Given the description of an element on the screen output the (x, y) to click on. 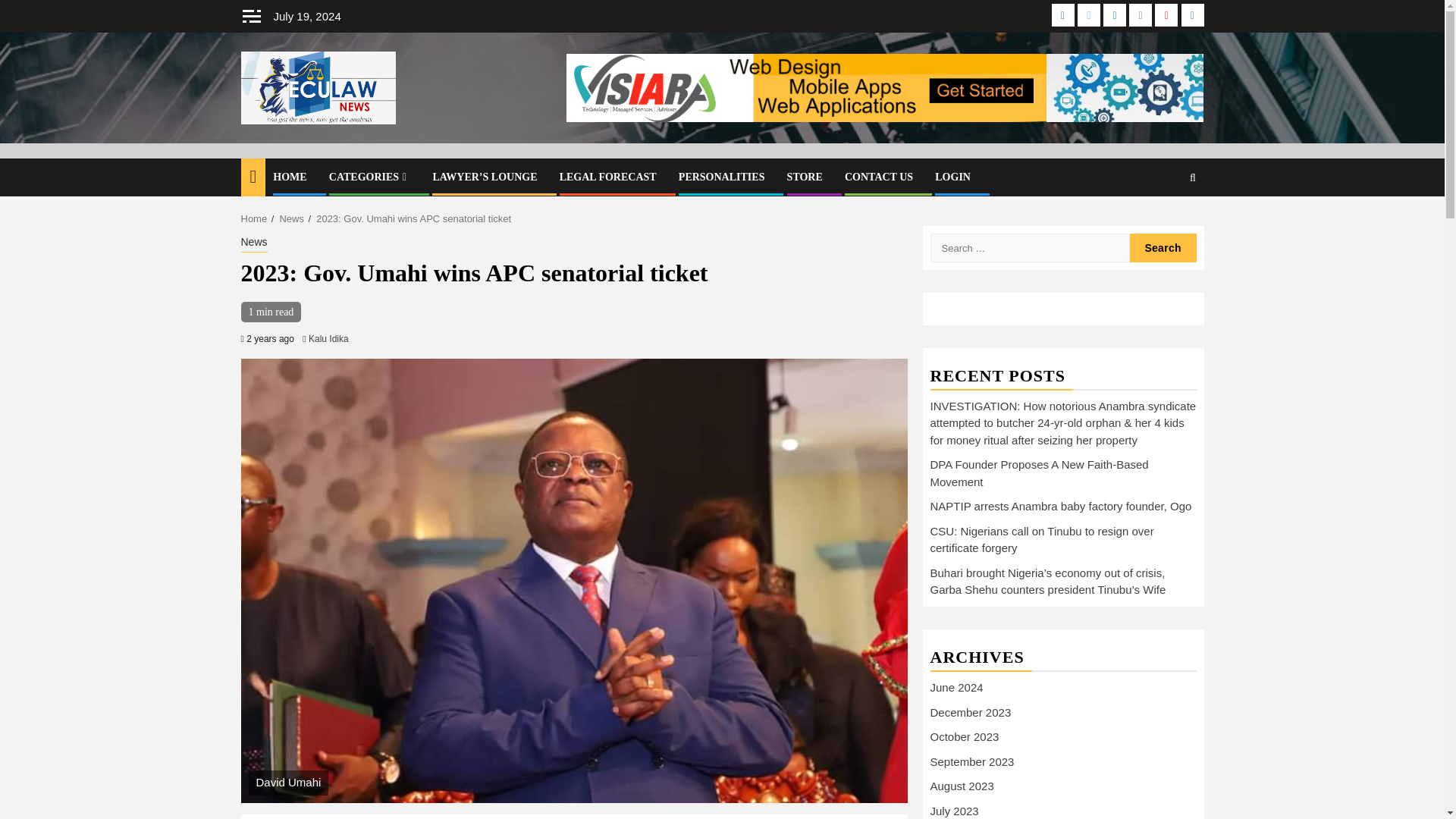
Search (1162, 247)
Facebook (1062, 15)
Youtube (1165, 15)
VK (1140, 15)
Twitter (1088, 15)
Search (1192, 176)
Instagram (1192, 15)
Linkedin (1114, 15)
Search (1162, 247)
